Given the description of an element on the screen output the (x, y) to click on. 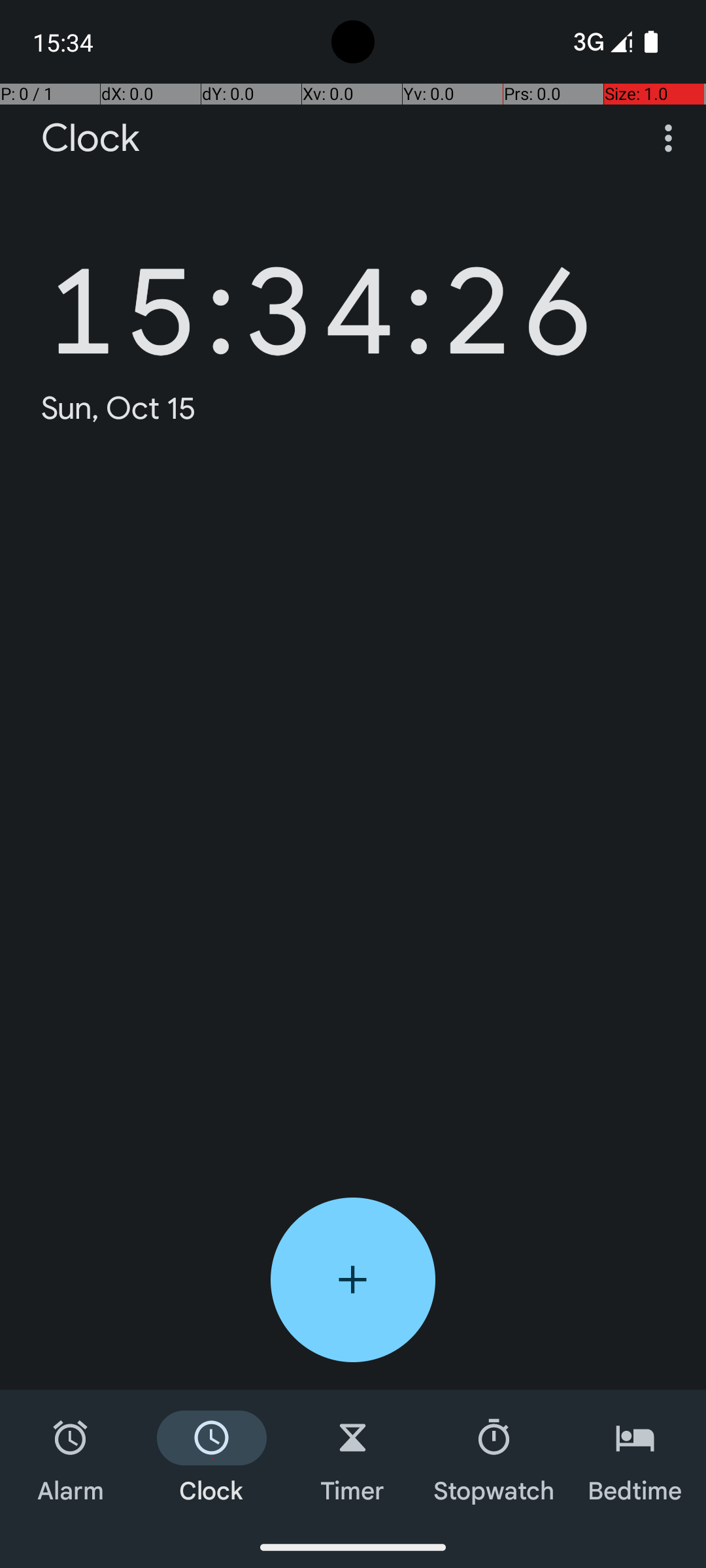
15:34:26 Element type: android.widget.TextView (319, 290)
